Given the description of an element on the screen output the (x, y) to click on. 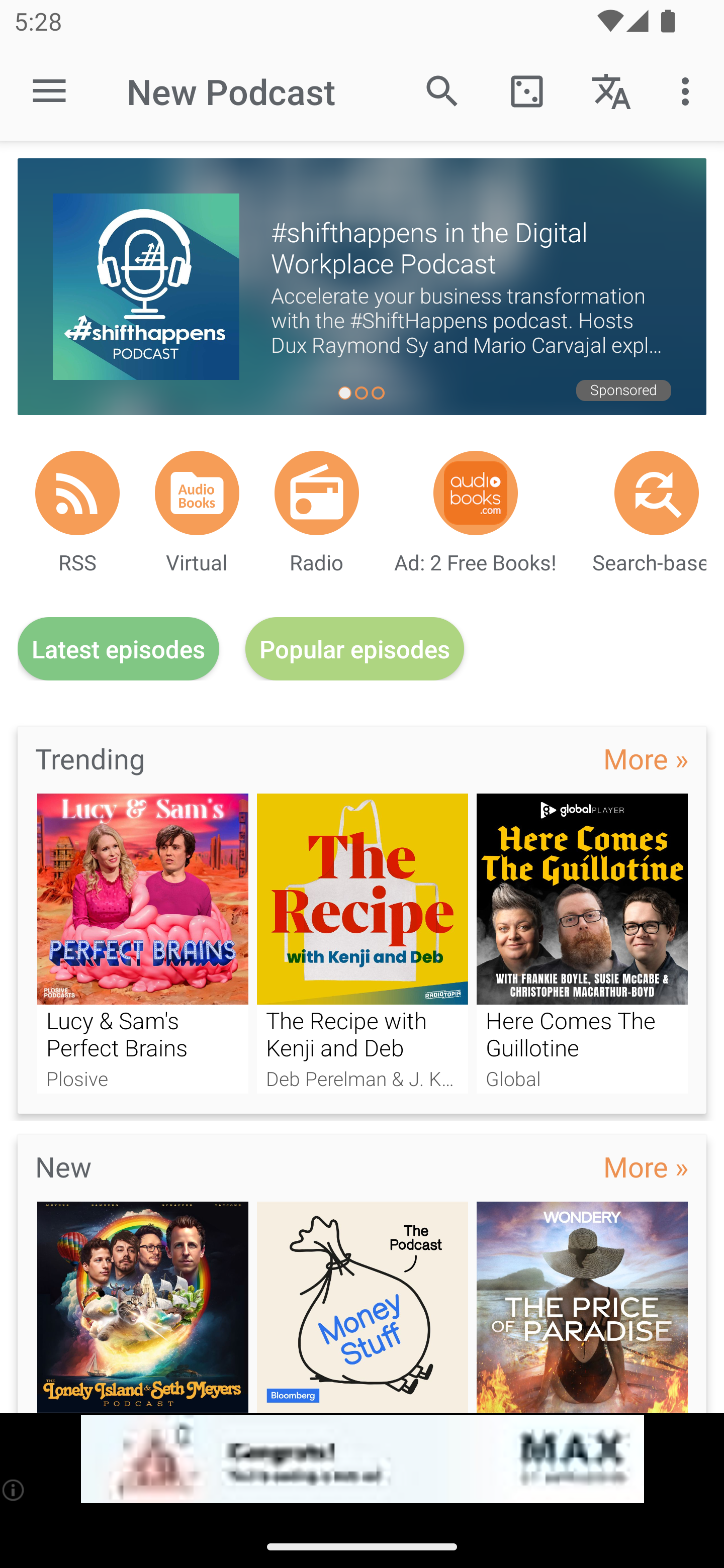
Open navigation sidebar (49, 91)
Search (442, 90)
Random pick (526, 90)
Podcast languages (611, 90)
More options (688, 90)
RSS (77, 492)
Virtual (196, 492)
Radio (316, 492)
Search-based (656, 492)
Latest episodes (118, 648)
Popular episodes (354, 648)
More » (645, 757)
Lucy & Sam's Perfect Brains Plosive (142, 942)
Here Comes The Guillotine Global (581, 942)
More » (645, 1166)
The Lonely Island and Seth Meyers Podcast (142, 1306)
Money Stuff: The Podcast (362, 1306)
The Price of Paradise (581, 1306)
app-monetization (362, 1459)
(i) (14, 1489)
